Given the description of an element on the screen output the (x, y) to click on. 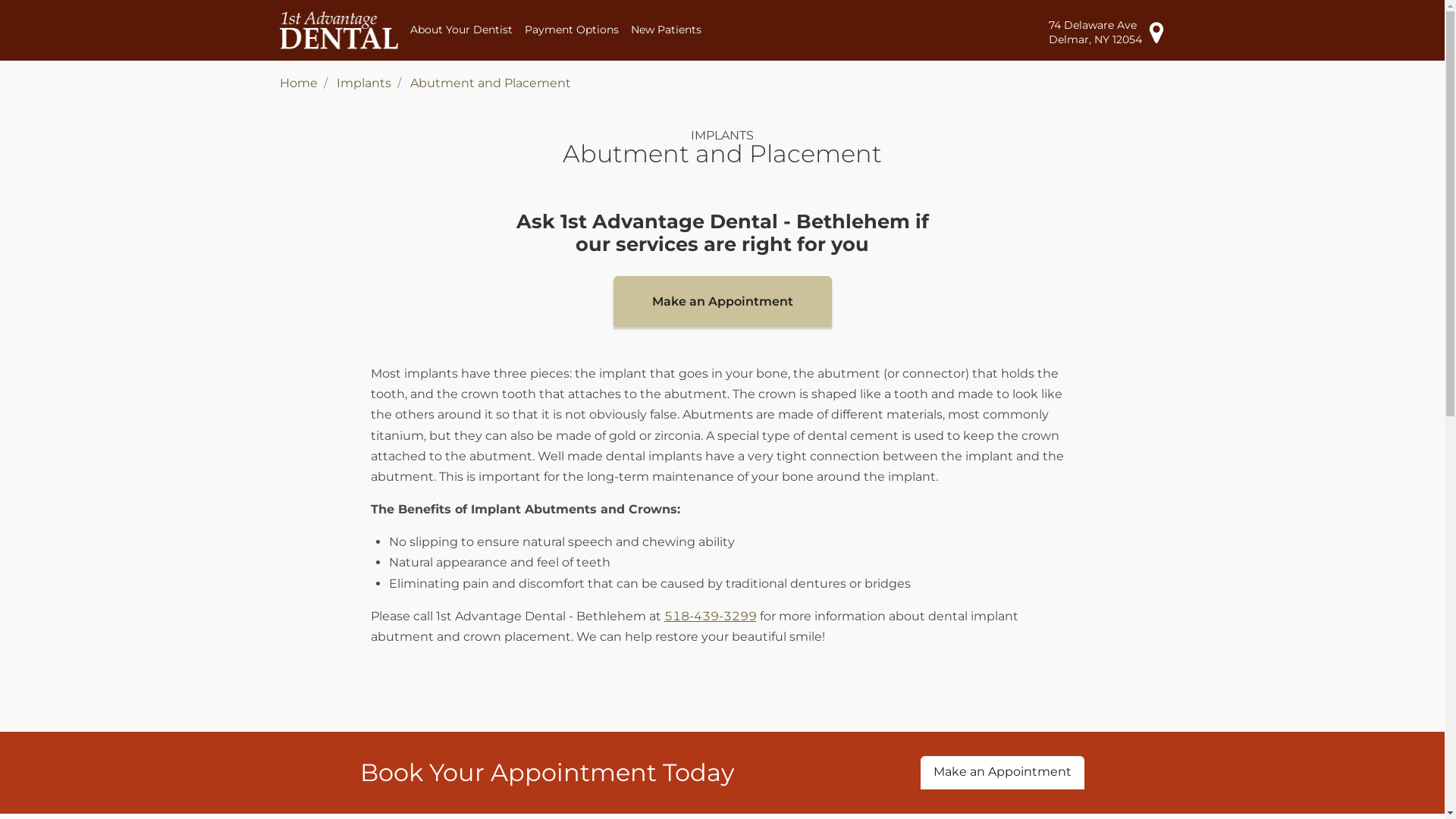
Make an Appointment Element type: text (1002, 772)
Home Element type: text (297, 82)
Make an Appointment Element type: text (721, 301)
Implants Element type: text (363, 82)
518-439-3299 Element type: text (710, 615)
74 Delaware Ave
Delmar, NY 12054 Element type: text (1106, 31)
New Patients Element type: text (665, 29)
About Your Dentist Element type: text (461, 29)
Abutment and Placement Element type: text (489, 82)
Payment Options Element type: text (571, 29)
